Given the description of an element on the screen output the (x, y) to click on. 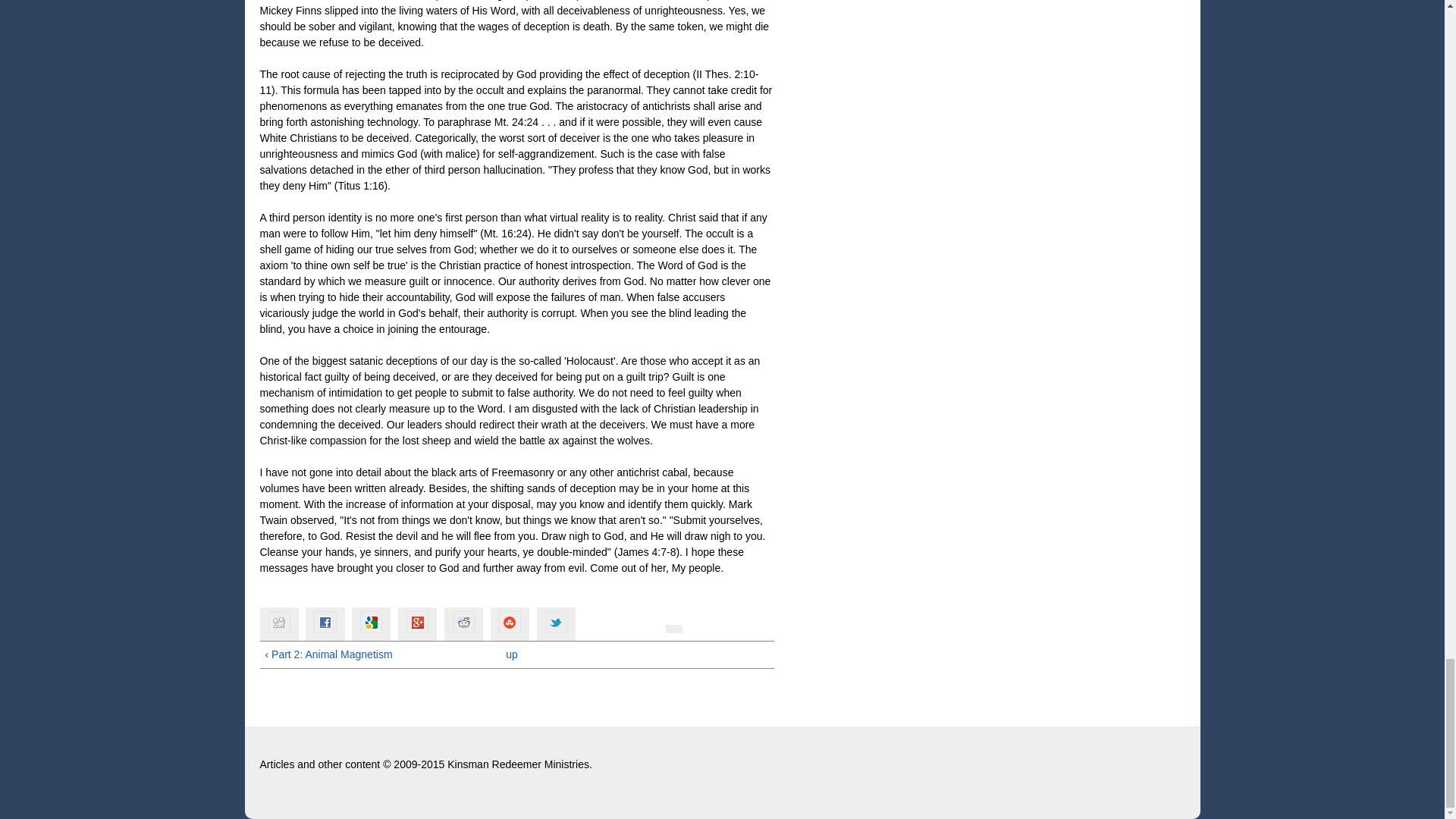
Share this on Twitter (556, 624)
Submit this post on reddit.com (463, 624)
Share on Facebook (324, 624)
Digg this post on digg.com (278, 624)
Pin It (673, 628)
Thumb this up at StumbleUpon (509, 624)
Go to previous page (370, 654)
Bookmark this post on Google (371, 624)
